Given the description of an element on the screen output the (x, y) to click on. 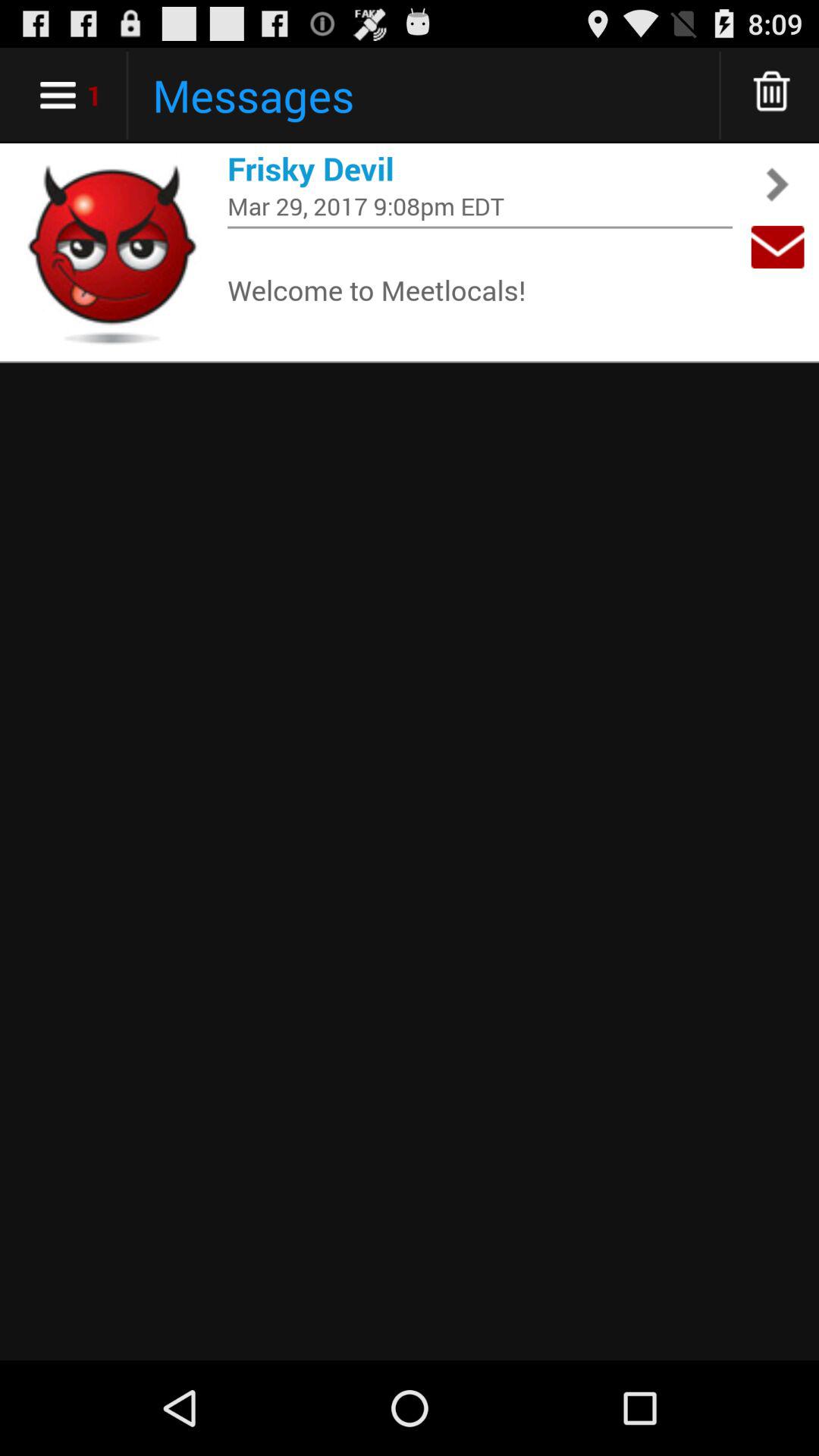
delete this message (772, 95)
